Given the description of an element on the screen output the (x, y) to click on. 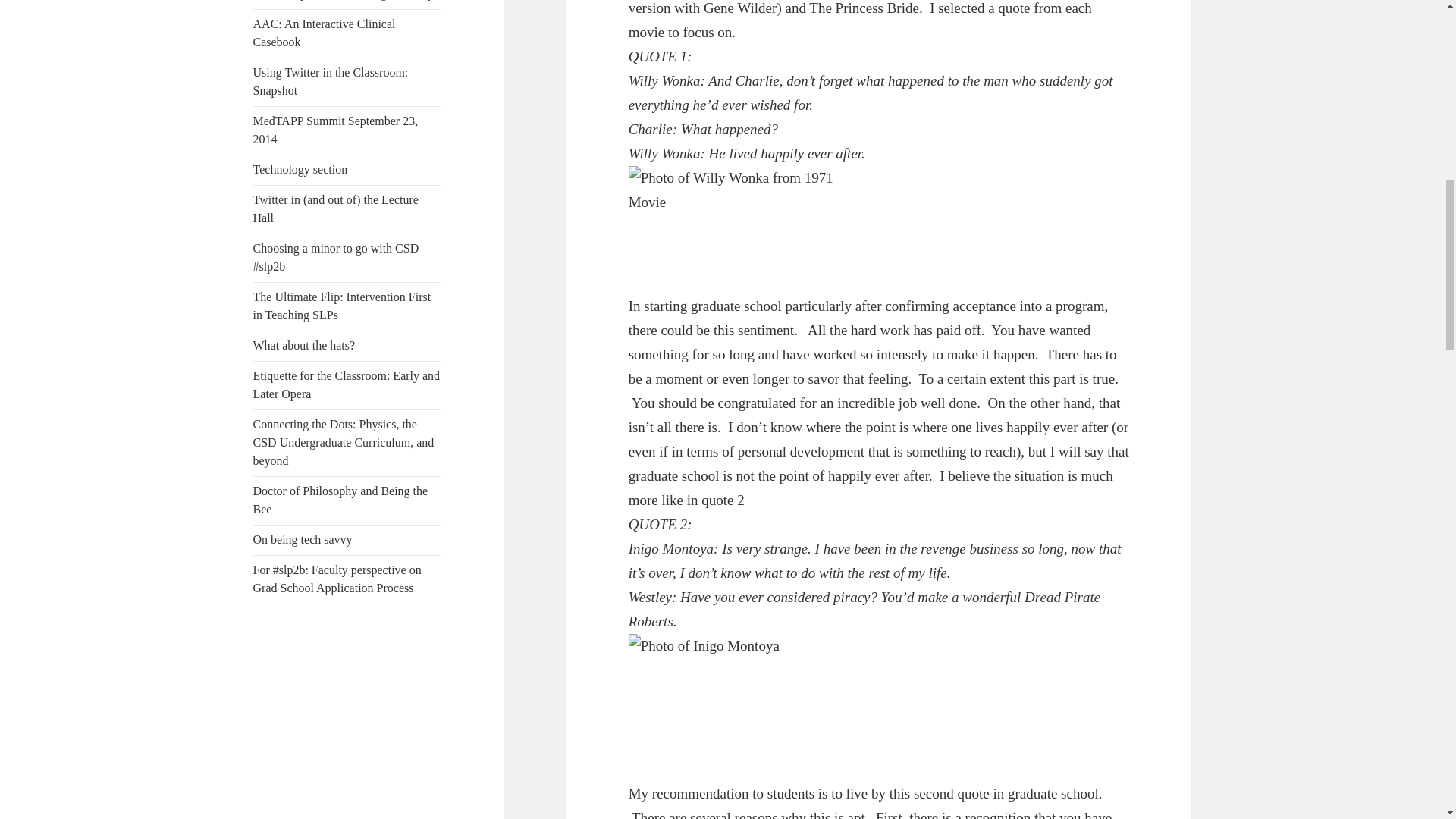
MedTAPP Summit September 23, 2014 (336, 129)
AAC: An Interactive Clinical Casebook (324, 32)
Technology section (300, 169)
The Ultimate Flip: Intervention First in Teaching SLPs (341, 305)
Using Twitter in the Classroom: Snapshot (331, 81)
What about the hats? (304, 345)
Doctor of Philosophy and Being the Bee (340, 499)
Etiquette for the Classroom: Early and Later Opera (347, 384)
